Given the description of an element on the screen output the (x, y) to click on. 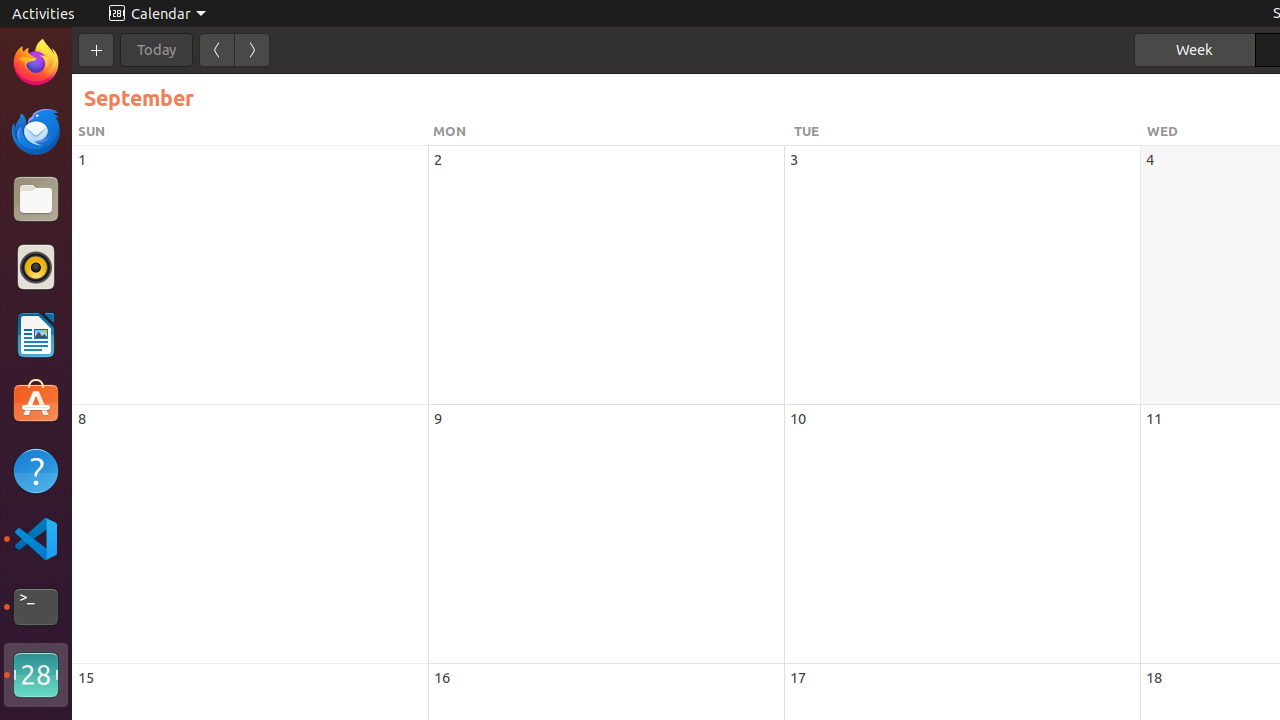
Calendar Element type: push-button (36, 675)
Activities Element type: label (43, 13)
15 Element type: label (86, 677)
IsaHelpMain.desktop Element type: label (133, 300)
Calendar Element type: menu (157, 13)
